Given the description of an element on the screen output the (x, y) to click on. 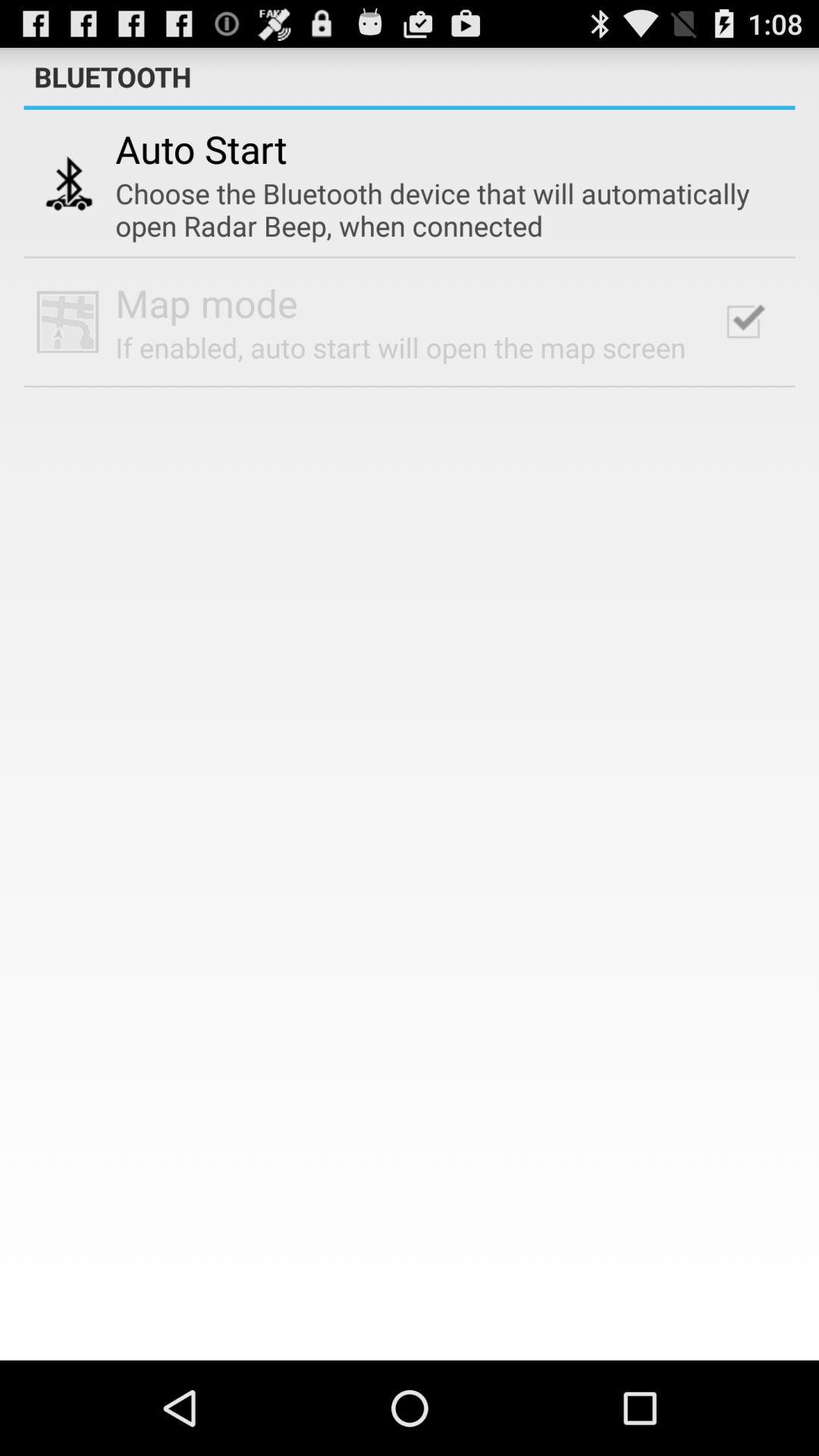
jump to the map mode (206, 302)
